Given the description of an element on the screen output the (x, y) to click on. 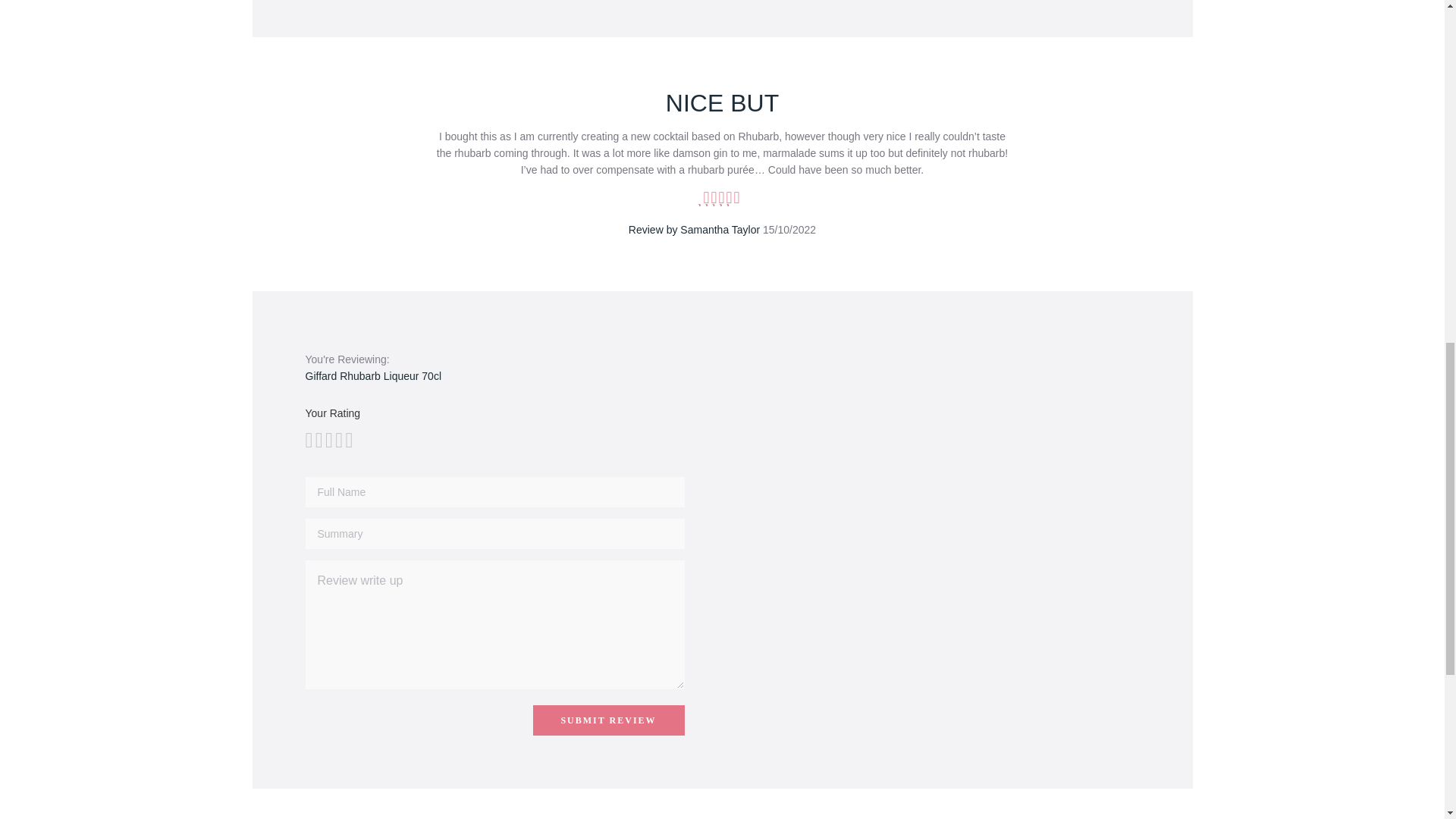
5 stars (328, 440)
3 stars (318, 440)
4 stars (323, 440)
